Given the description of an element on the screen output the (x, y) to click on. 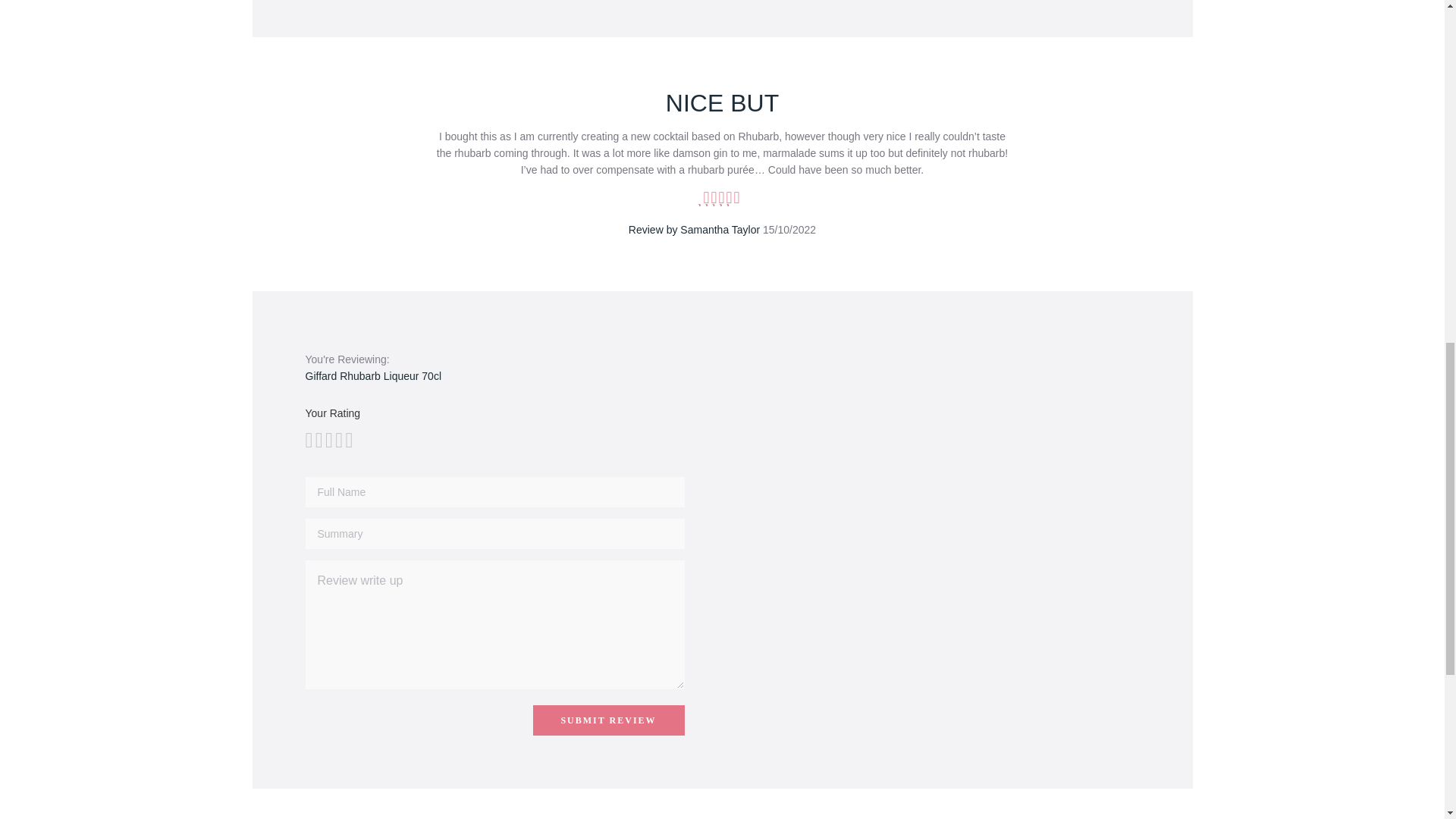
5 stars (328, 440)
3 stars (318, 440)
4 stars (323, 440)
